Given the description of an element on the screen output the (x, y) to click on. 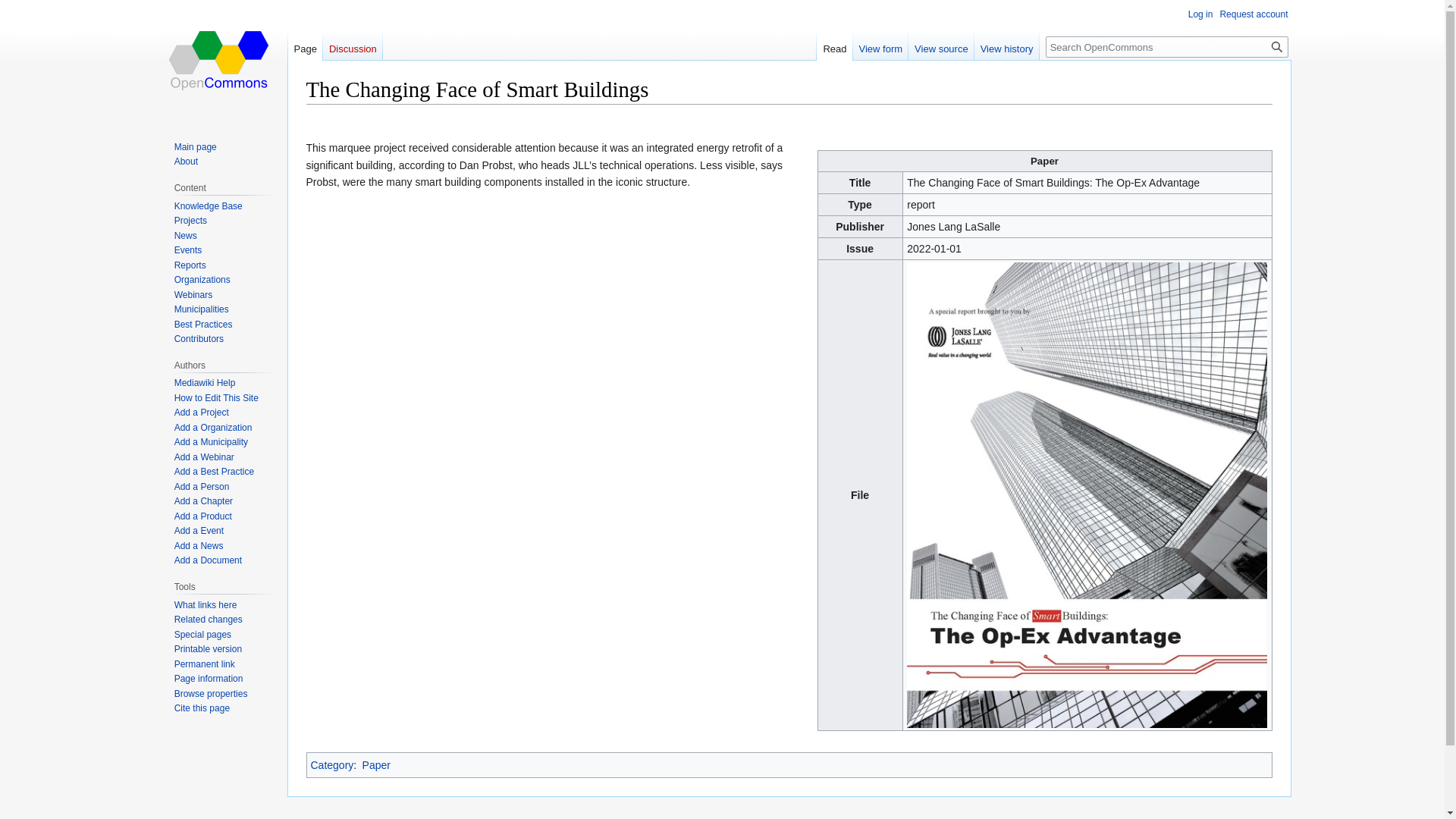
Reports (190, 265)
Category:Paper (376, 765)
Page (305, 45)
Projects (190, 220)
Knowledge Base (208, 205)
Add a Organization (212, 427)
Special:Categories (332, 765)
Category (332, 765)
Organizations (202, 279)
Main page (195, 146)
Add a Product (202, 516)
Add a Chapter (203, 501)
Add a Municipality (210, 441)
Contributors (199, 338)
